Given the description of an element on the screen output the (x, y) to click on. 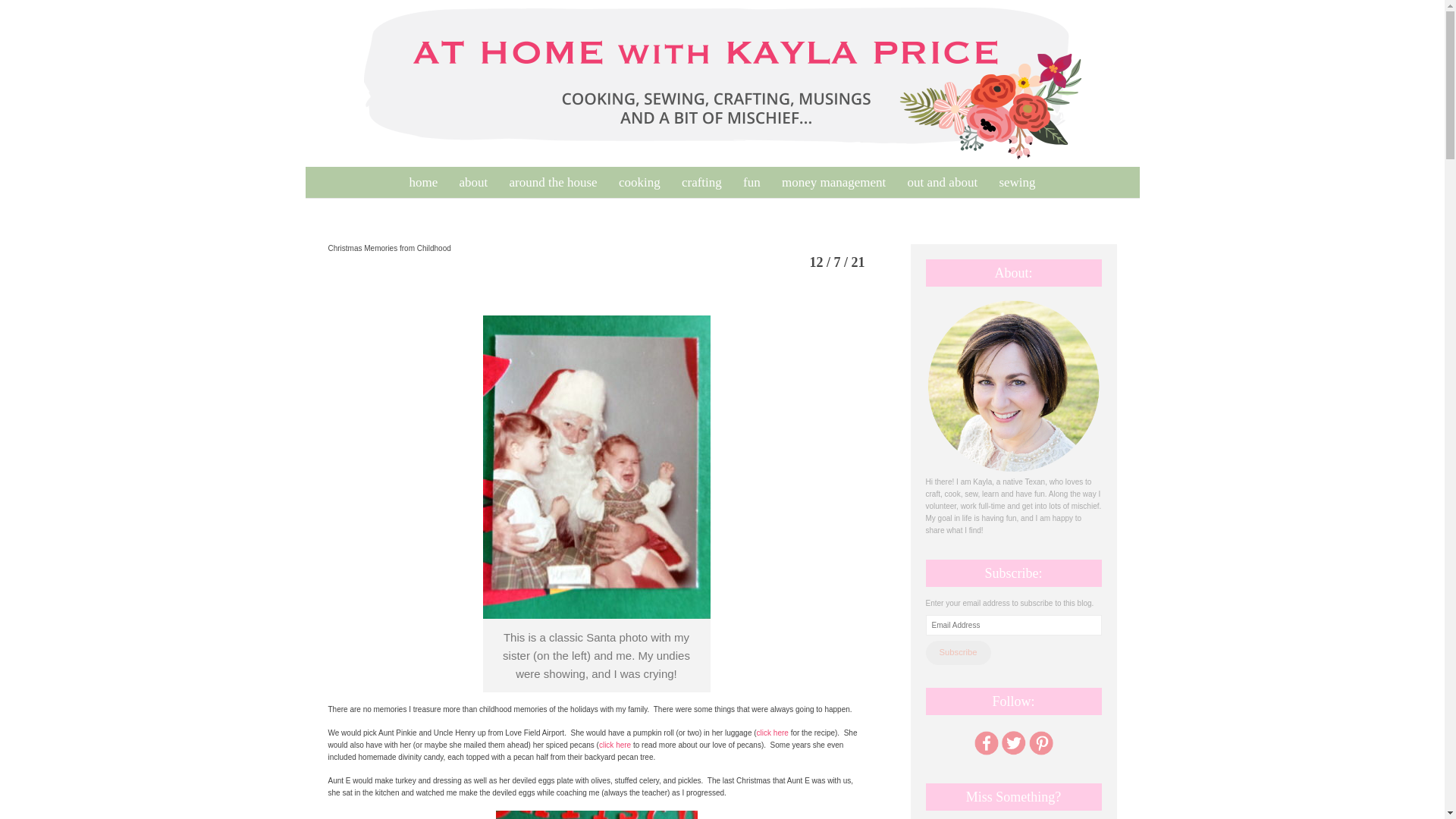
Facebook (985, 742)
Pinterest (1040, 742)
money management (834, 182)
fun (751, 182)
home (422, 182)
about (472, 182)
skip to content (313, 175)
Twitter (1012, 742)
around the house (553, 182)
cooking (639, 182)
